Given the description of an element on the screen output the (x, y) to click on. 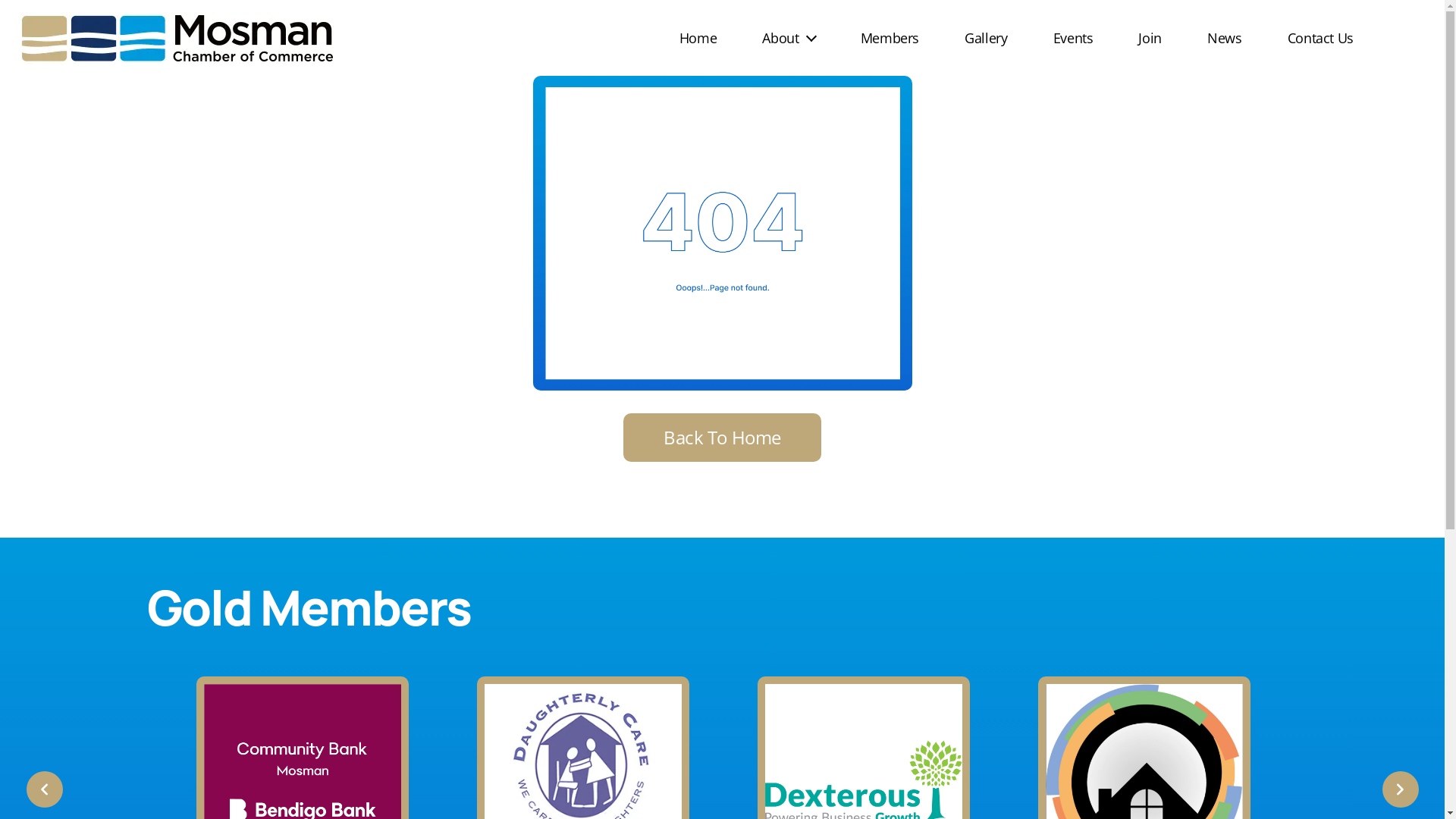
Contact Us Element type: text (1308, 37)
News Element type: text (1224, 37)
About Element type: text (788, 37)
Events Element type: text (1073, 37)
Members Element type: text (889, 37)
Next Element type: text (1399, 789)
Home Element type: text (709, 37)
Back To Home Element type: text (722, 437)
Previous Element type: text (43, 789)
Gallery Element type: text (985, 37)
Join Element type: text (1149, 37)
